Given the description of an element on the screen output the (x, y) to click on. 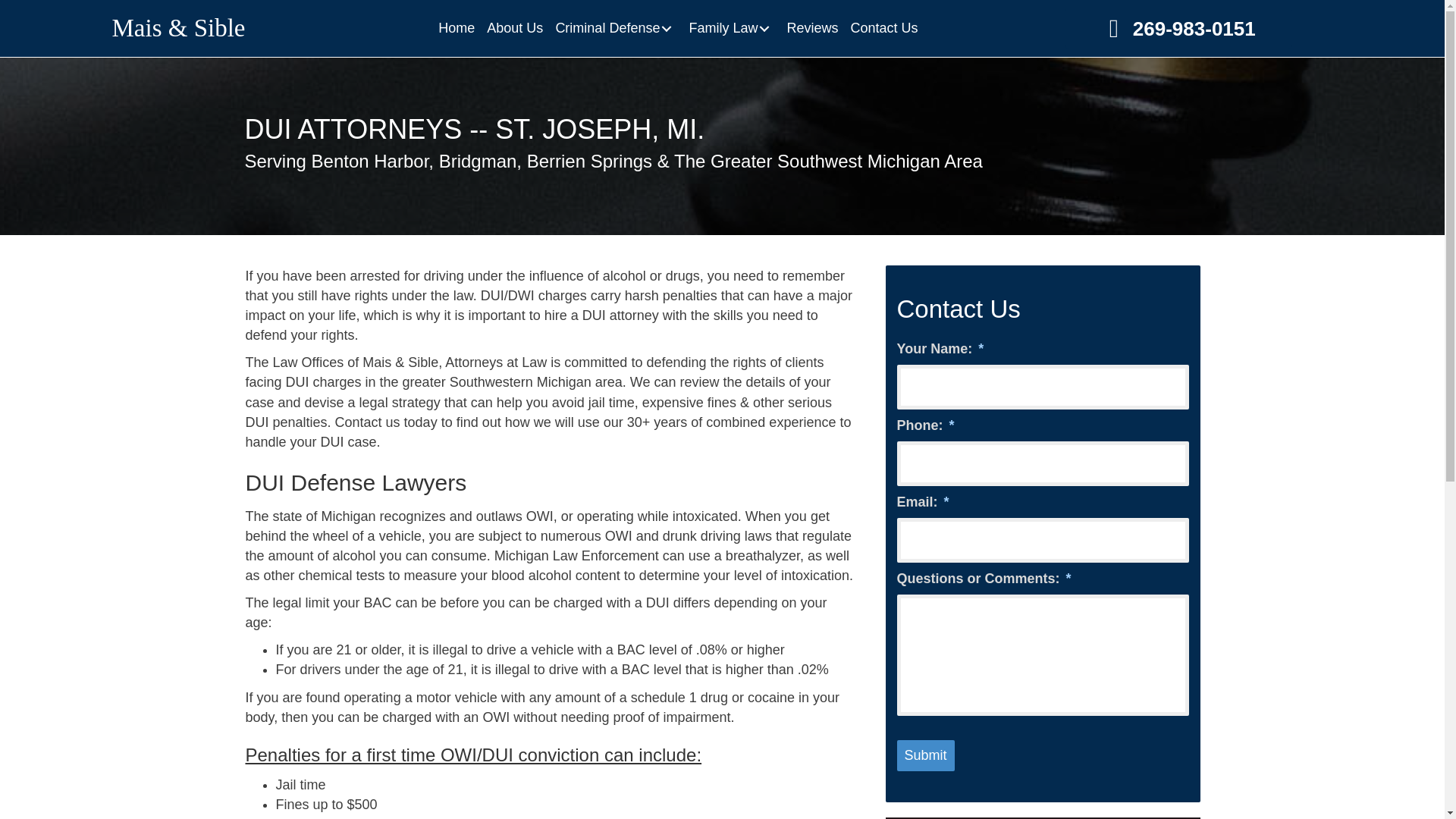
About Us (514, 28)
Click Here (1178, 28)
Submit (924, 756)
Family Law (731, 28)
Criminal Defense (615, 28)
